Given the description of an element on the screen output the (x, y) to click on. 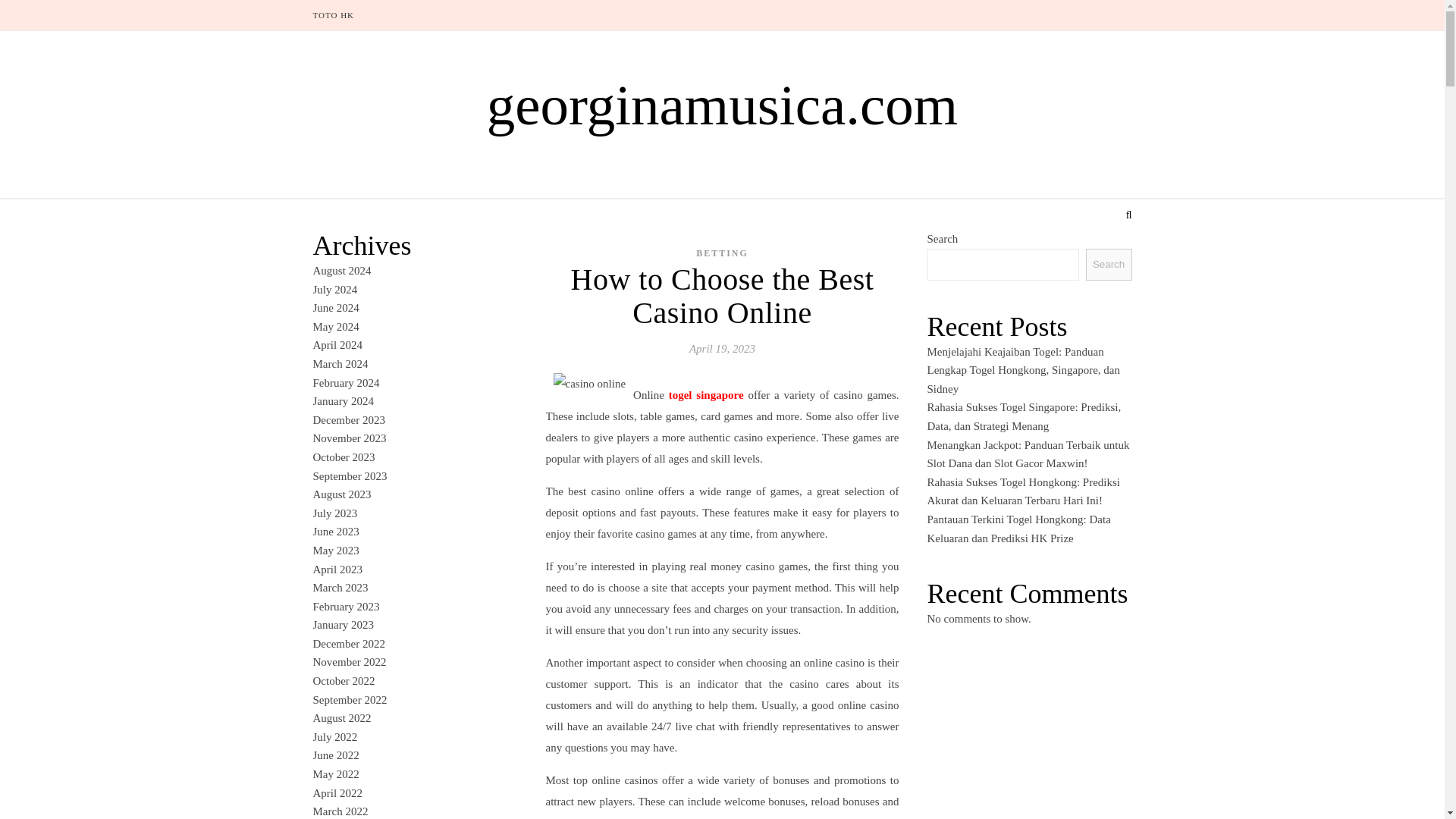
March 2024 (340, 363)
February 2024 (345, 382)
December 2022 (348, 644)
georginamusica.com (722, 104)
October 2023 (343, 457)
August 2023 (342, 494)
November 2023 (349, 438)
July 2023 (334, 512)
July 2024 (334, 289)
July 2022 (334, 736)
